Given the description of an element on the screen output the (x, y) to click on. 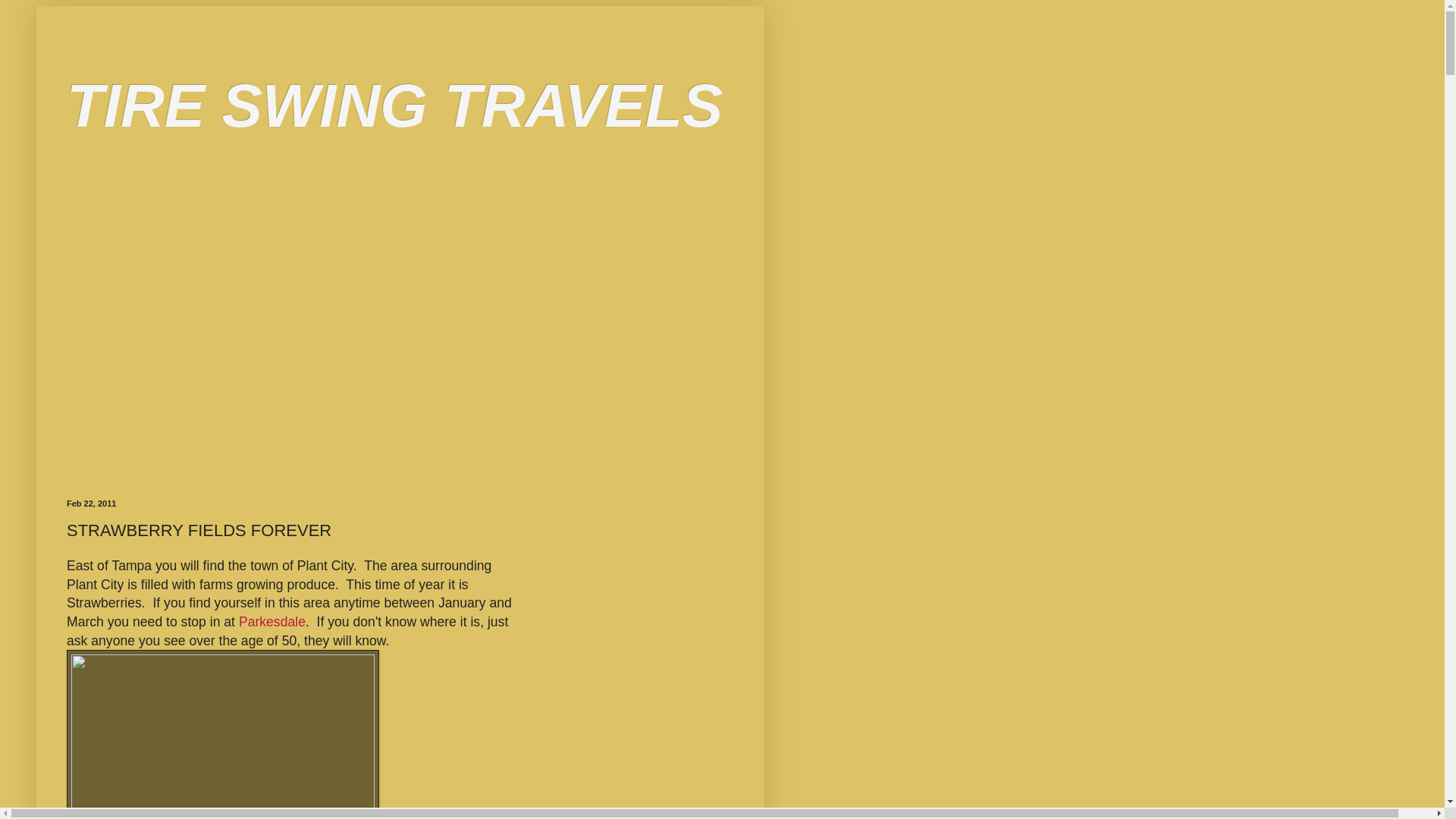
TIRE SWING TRAVELS (394, 105)
Parkesdale (271, 621)
